Given the description of an element on the screen output the (x, y) to click on. 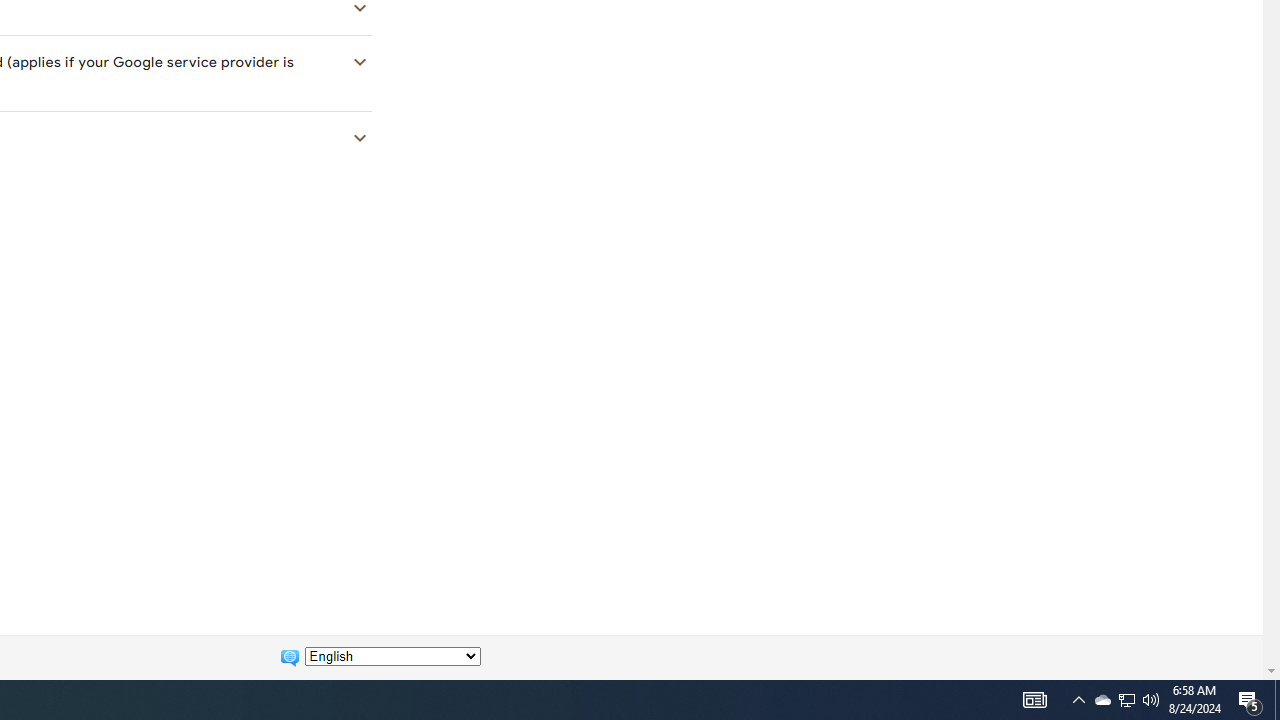
Change language: (392, 656)
